Given the description of an element on the screen output the (x, y) to click on. 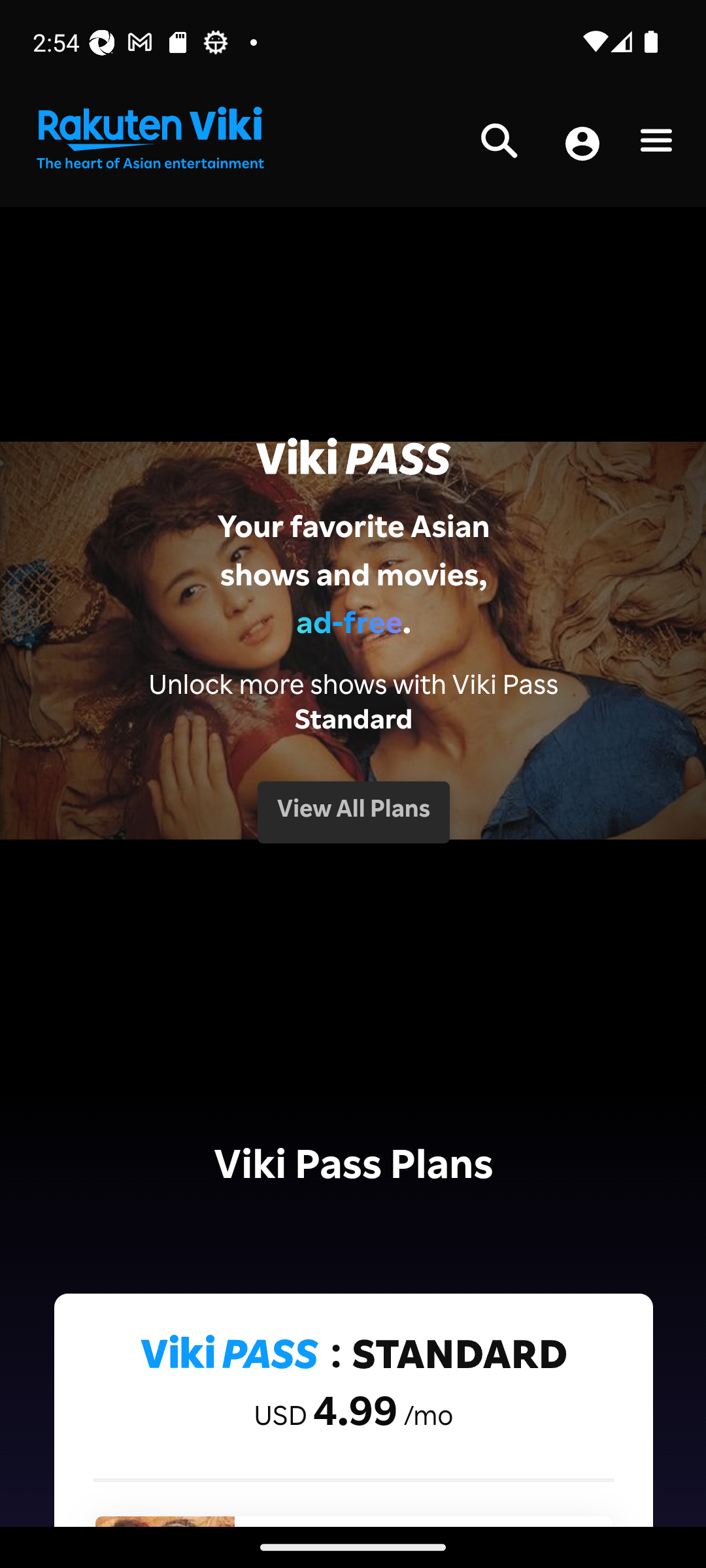
Go to homepage Rakuten Viki (149, 138)
nav.session.login (582, 144)
Settings menu (655, 143)
View All Plans (353, 812)
